Given the description of an element on the screen output the (x, y) to click on. 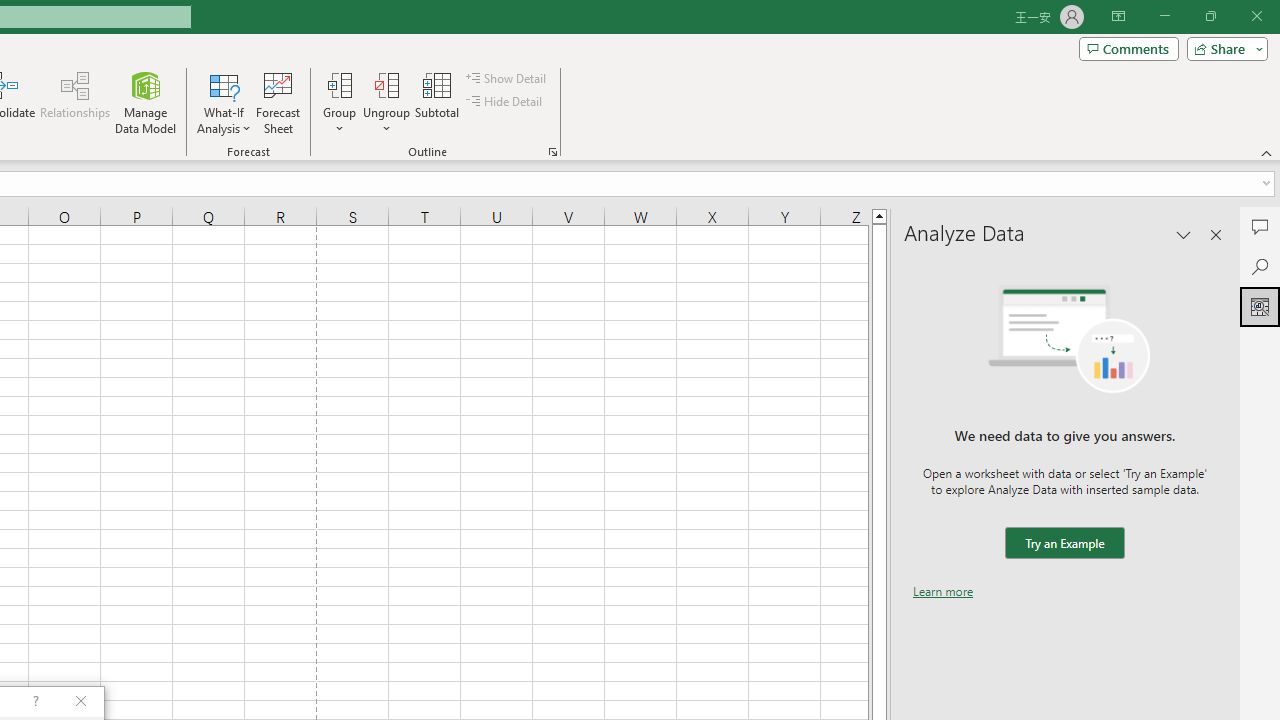
Forecast Sheet (278, 102)
Manage Data Model (145, 102)
What-If Analysis (223, 102)
